Given the description of an element on the screen output the (x, y) to click on. 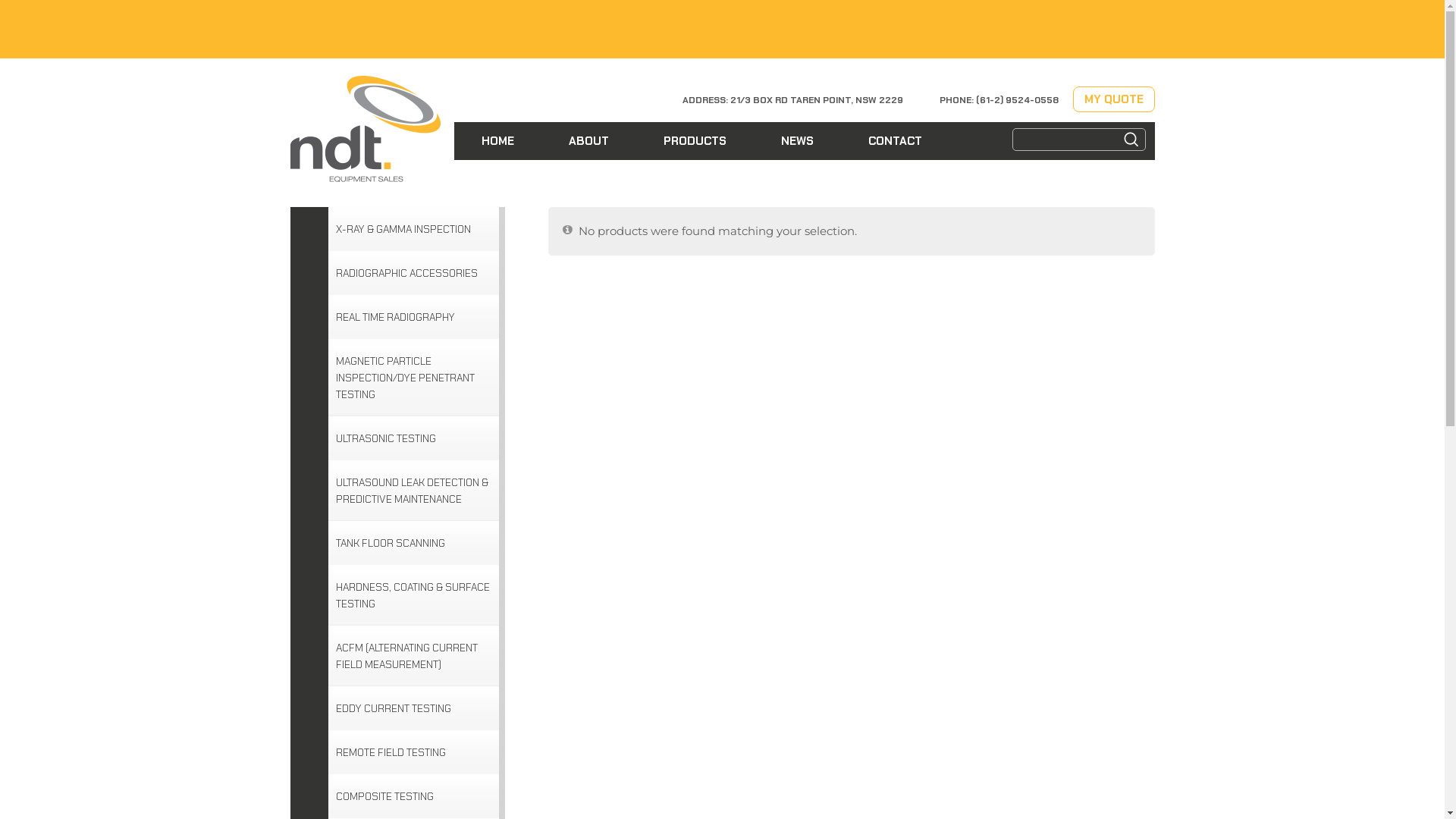
(61-2) 9524-0558 Element type: text (1016, 100)
REMOTE FIELD TESTING Element type: text (389, 752)
REAL TIME RADIOGRAPHY Element type: text (394, 316)
ULTRASOUND LEAK DETECTION & PREDICTIVE MAINTENANCE Element type: text (412, 490)
EDDY CURRENT TESTING Element type: text (392, 708)
ULTRASONIC TESTING Element type: text (384, 438)
RADIOGRAPHIC ACCESSORIES Element type: text (405, 272)
COMPOSITE TESTING Element type: text (383, 796)
X-RAY & GAMMA INSPECTION Element type: text (402, 229)
NEWS Element type: text (796, 141)
ACFM (ALTERNATING CURRENT FIELD MEASUREMENT) Element type: text (412, 655)
CONTACT Element type: text (894, 141)
Search Element type: text (1130, 139)
HOME Element type: text (496, 141)
ABOUT Element type: text (588, 141)
MY QUOTE Element type: text (1113, 99)
PRODUCTS Element type: text (694, 141)
MAGNETIC PARTICLE INSPECTION/DYE PENETRANT TESTING Element type: text (412, 377)
TANK FLOOR SCANNING Element type: text (389, 542)
HARDNESS, COATING & SURFACE TESTING Element type: text (412, 594)
